Given the description of an element on the screen output the (x, y) to click on. 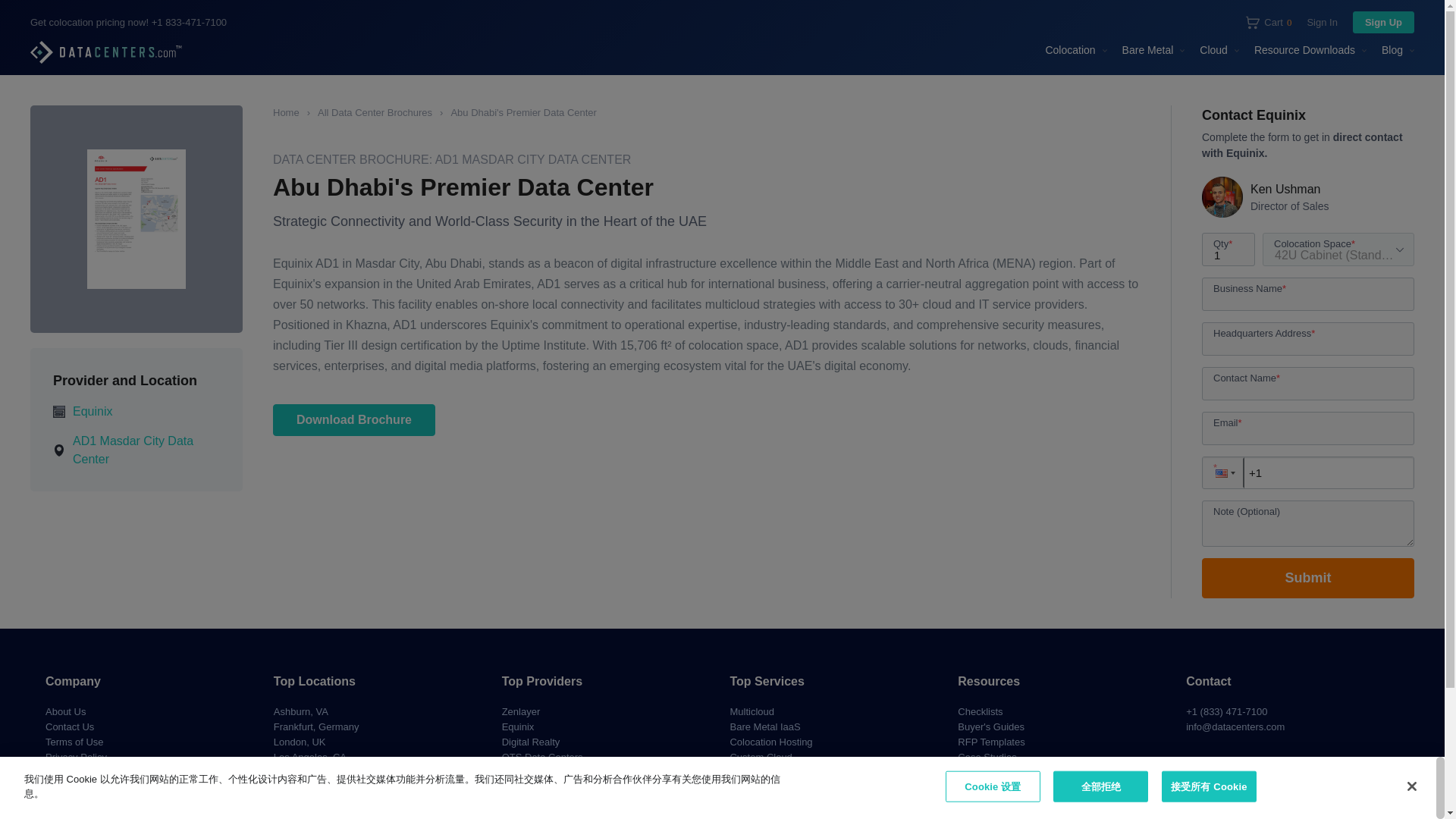
1 (1228, 249)
Sign In (1321, 22)
Sign Up (1268, 21)
